Given the description of an element on the screen output the (x, y) to click on. 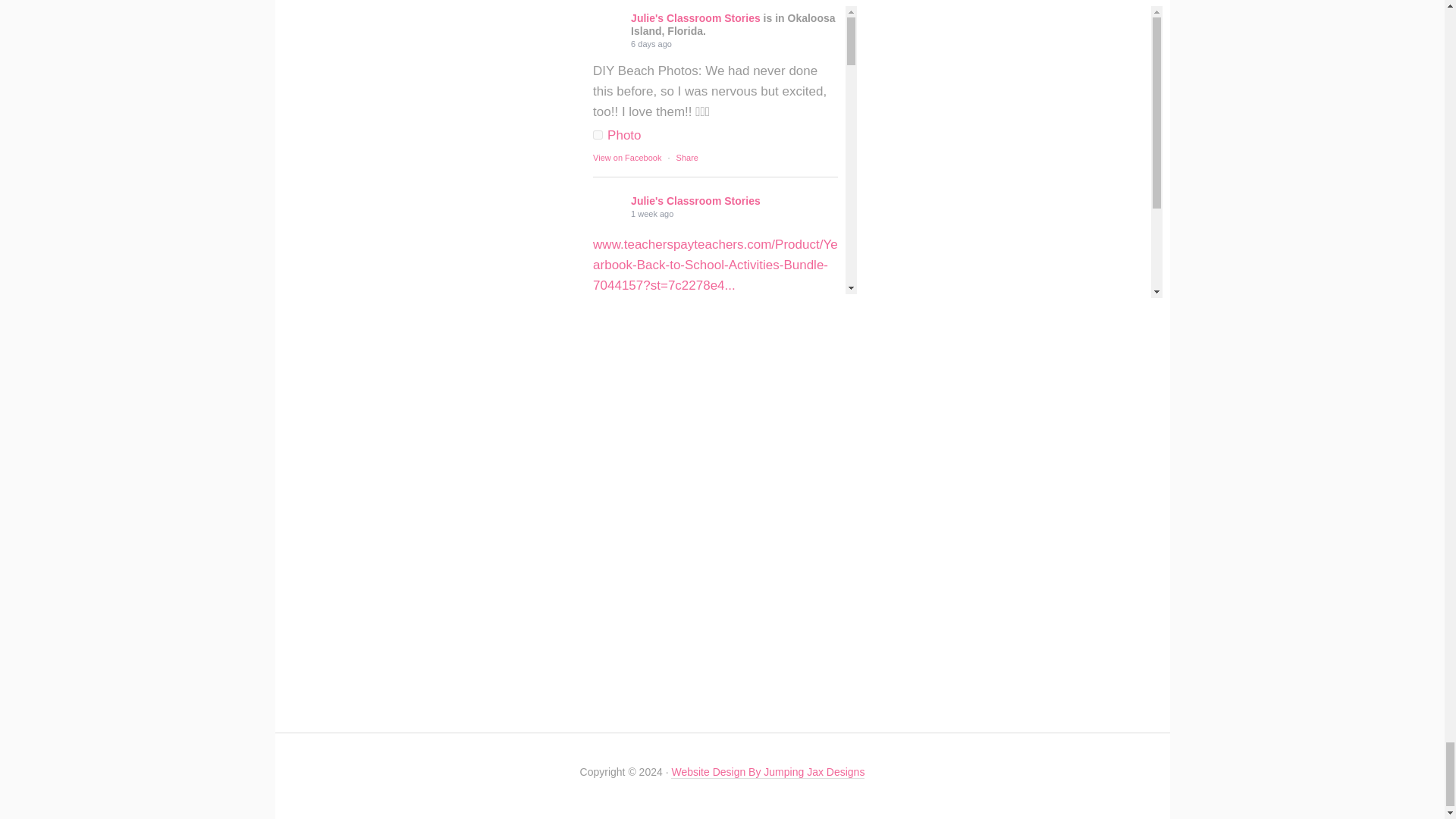
View on Facebook (626, 651)
Julie's Classroom Stories (607, 381)
View on Facebook (626, 157)
Share (687, 651)
Julie's Classroom Stories (607, 701)
Julie's Classroom Stories (607, 207)
View on Facebook (626, 330)
Share (687, 330)
Share (687, 157)
Julie's Classroom Stories (607, 24)
